Given the description of an element on the screen output the (x, y) to click on. 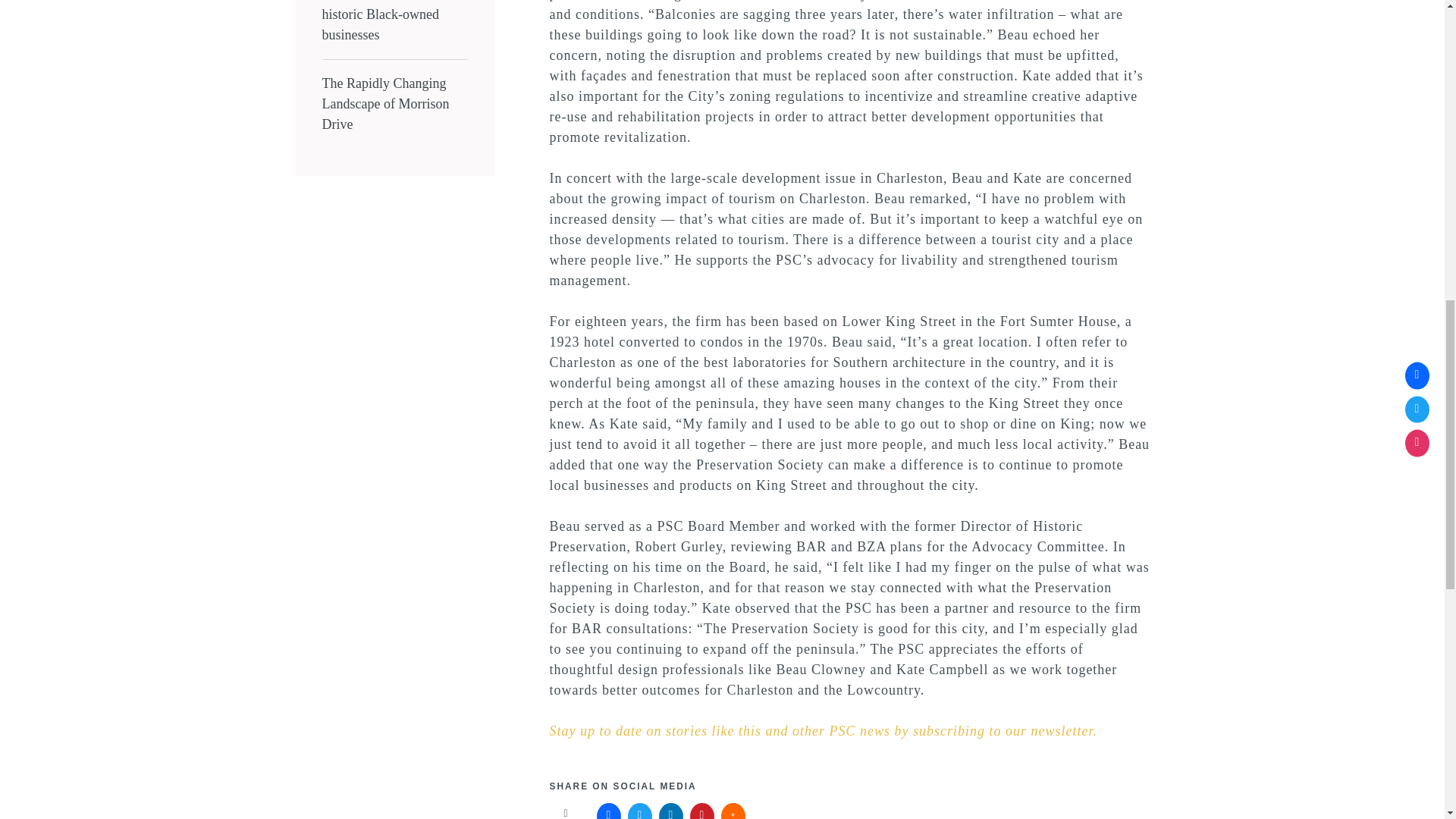
Add this to LinkedIn (670, 811)
Submit this to Pinterest (702, 811)
Share this on Facebook (608, 811)
Tweet this ! (639, 811)
More share links (732, 811)
